Given the description of an element on the screen output the (x, y) to click on. 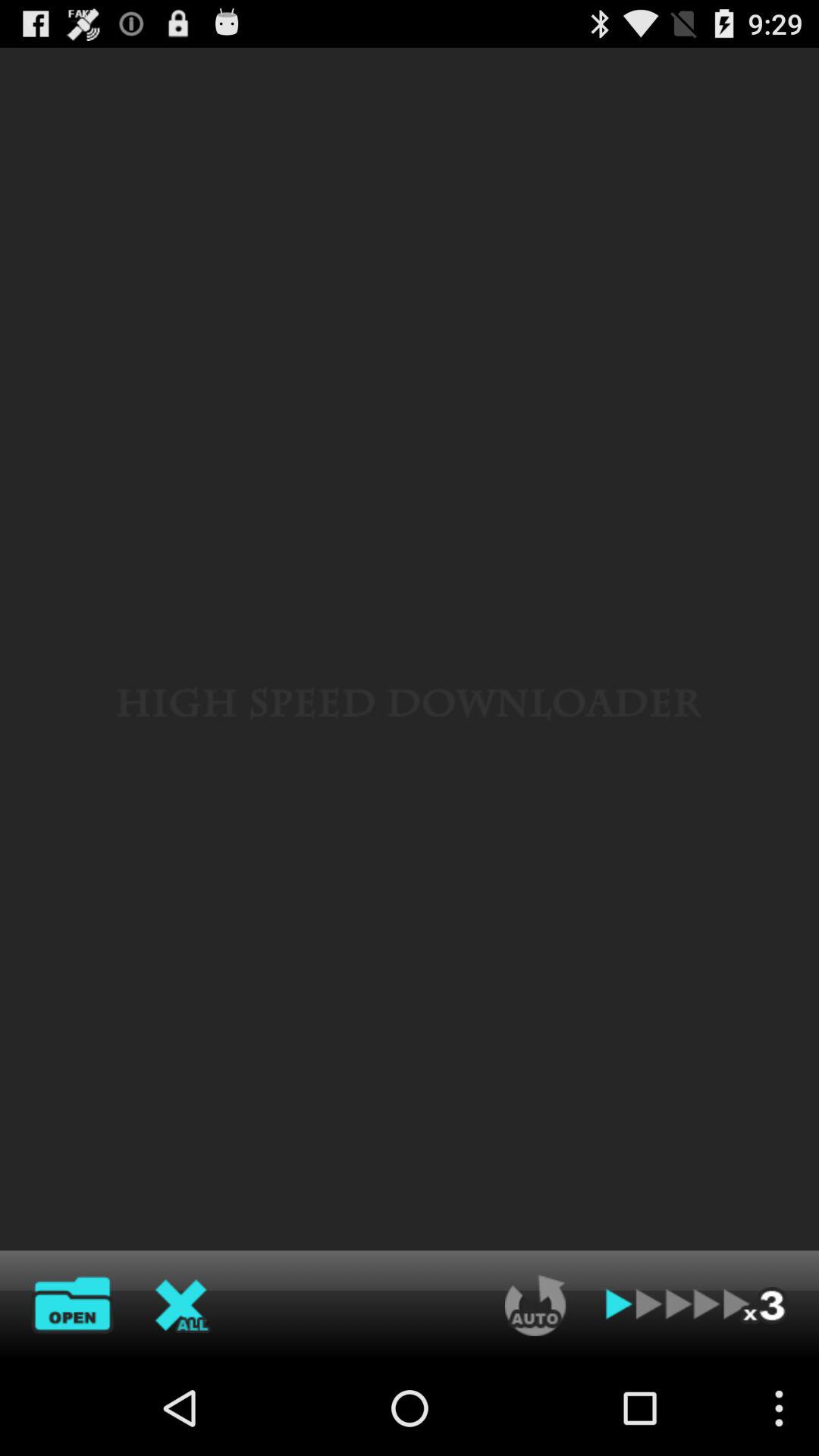
open file (72, 1305)
